Given the description of an element on the screen output the (x, y) to click on. 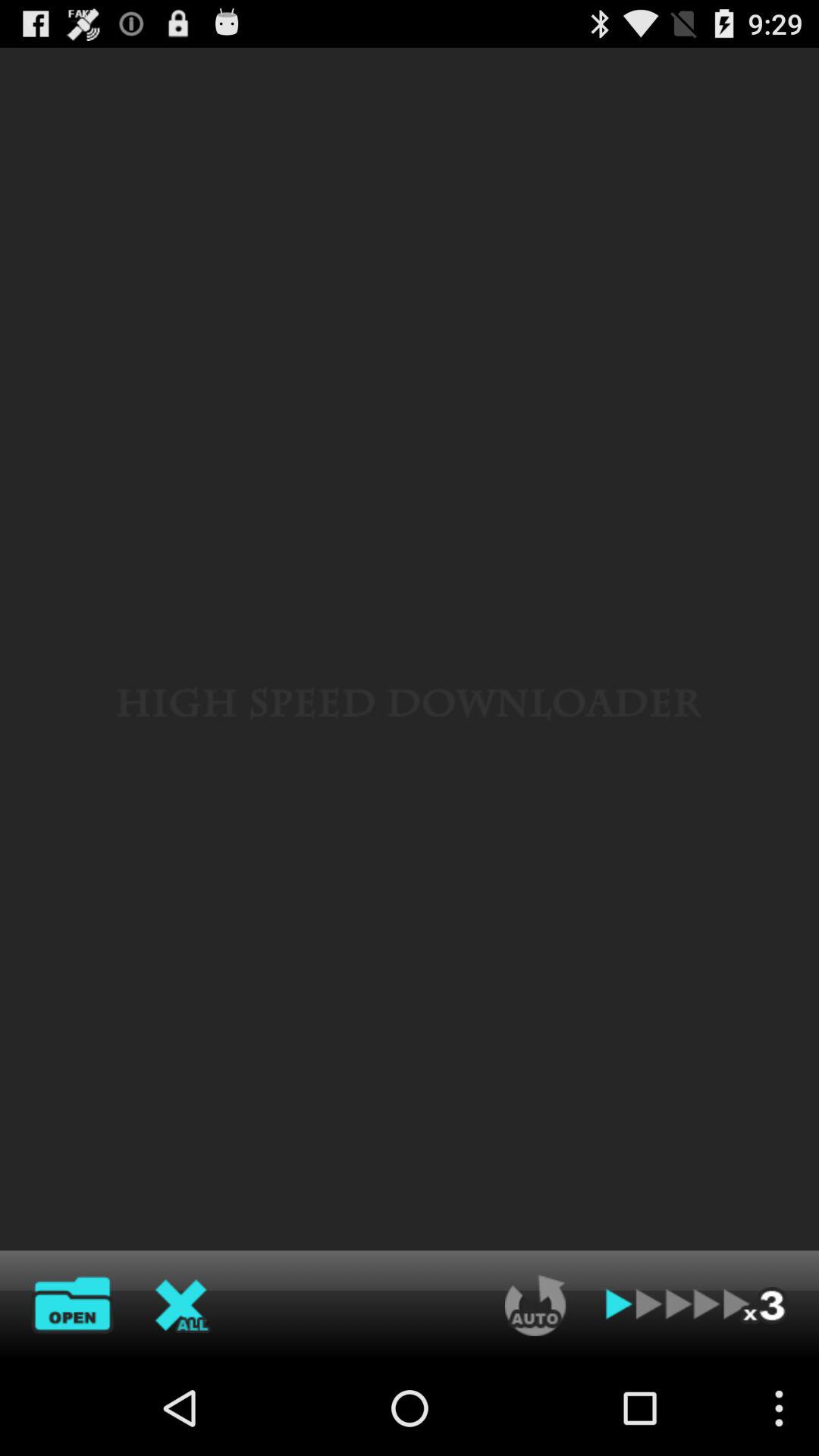
open file (72, 1305)
